Given the description of an element on the screen output the (x, y) to click on. 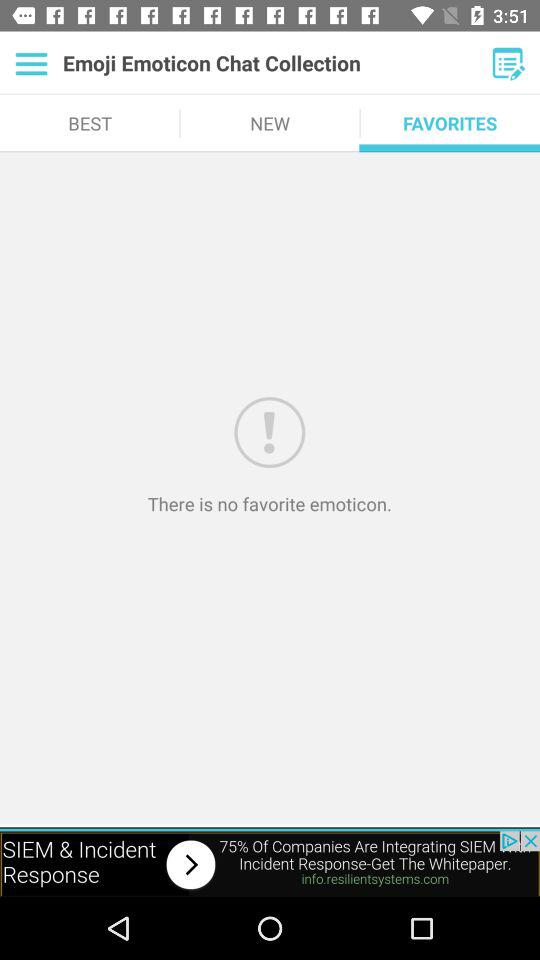
add something (508, 63)
